Given the description of an element on the screen output the (x, y) to click on. 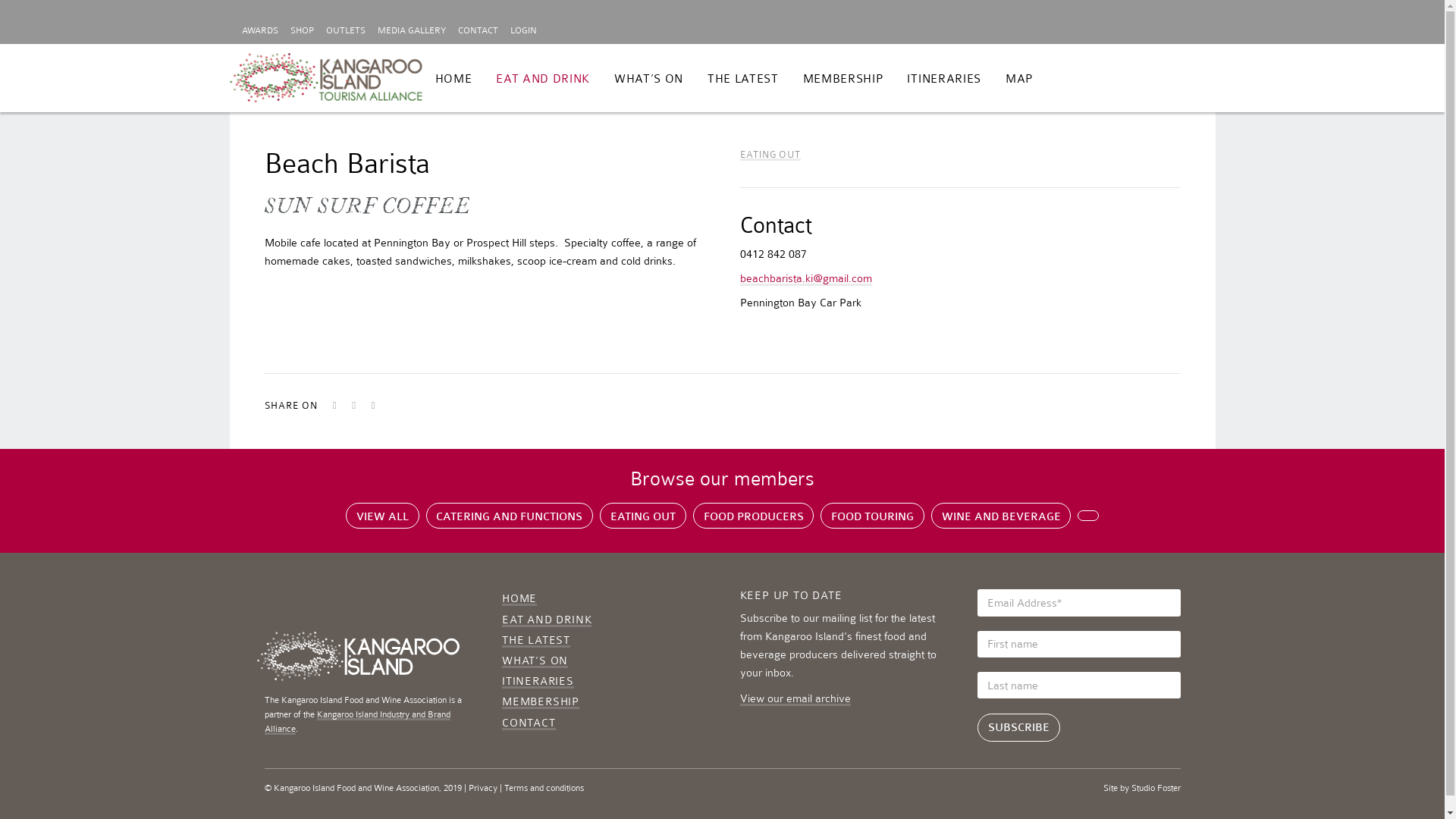
CATERING AND FUNCTIONS Element type: text (509, 515)
FOOD TOURING Element type: text (872, 515)
VIEW ALL Element type: text (382, 515)
Studio Foster Element type: text (1155, 787)
View our email archive Element type: text (795, 698)
WINE AND BEVERAGE Element type: text (1001, 515)
MEDIA GALLERY Element type: text (411, 30)
OUTLETS Element type: text (345, 30)
AWARDS Element type: text (259, 30)
HOME Element type: text (519, 598)
EAT AND DRINK Element type: text (542, 79)
Kangaroo Island Food and Wine Association Element type: text (325, 78)
HOME Element type: text (453, 79)
ITINERARIES Element type: text (943, 79)
FOOD PRODUCERS Element type: text (753, 515)
Kangaroo Island Industry and Brand Alliance Element type: text (356, 721)
beachbarista.ki@gmail.com Element type: text (806, 278)
Subscribe Element type: text (1018, 727)
LOGIN Element type: text (522, 30)
EATING OUT Element type: text (642, 515)
MAP Element type: text (1018, 79)
THE LATEST Element type: text (536, 640)
EATING OUT Element type: text (770, 154)
MEMBERSHIP Element type: text (843, 79)
SHOP Element type: text (301, 30)
EAT AND DRINK Element type: text (546, 619)
CONTACT Element type: text (478, 30)
CONTACT Element type: text (528, 722)
Privacy Element type: text (482, 787)
MEMBERSHIP Element type: text (540, 701)
ITINERARIES Element type: text (538, 681)
THE LATEST Element type: text (742, 79)
Terms and conditions Element type: text (543, 787)
